Given the description of an element on the screen output the (x, y) to click on. 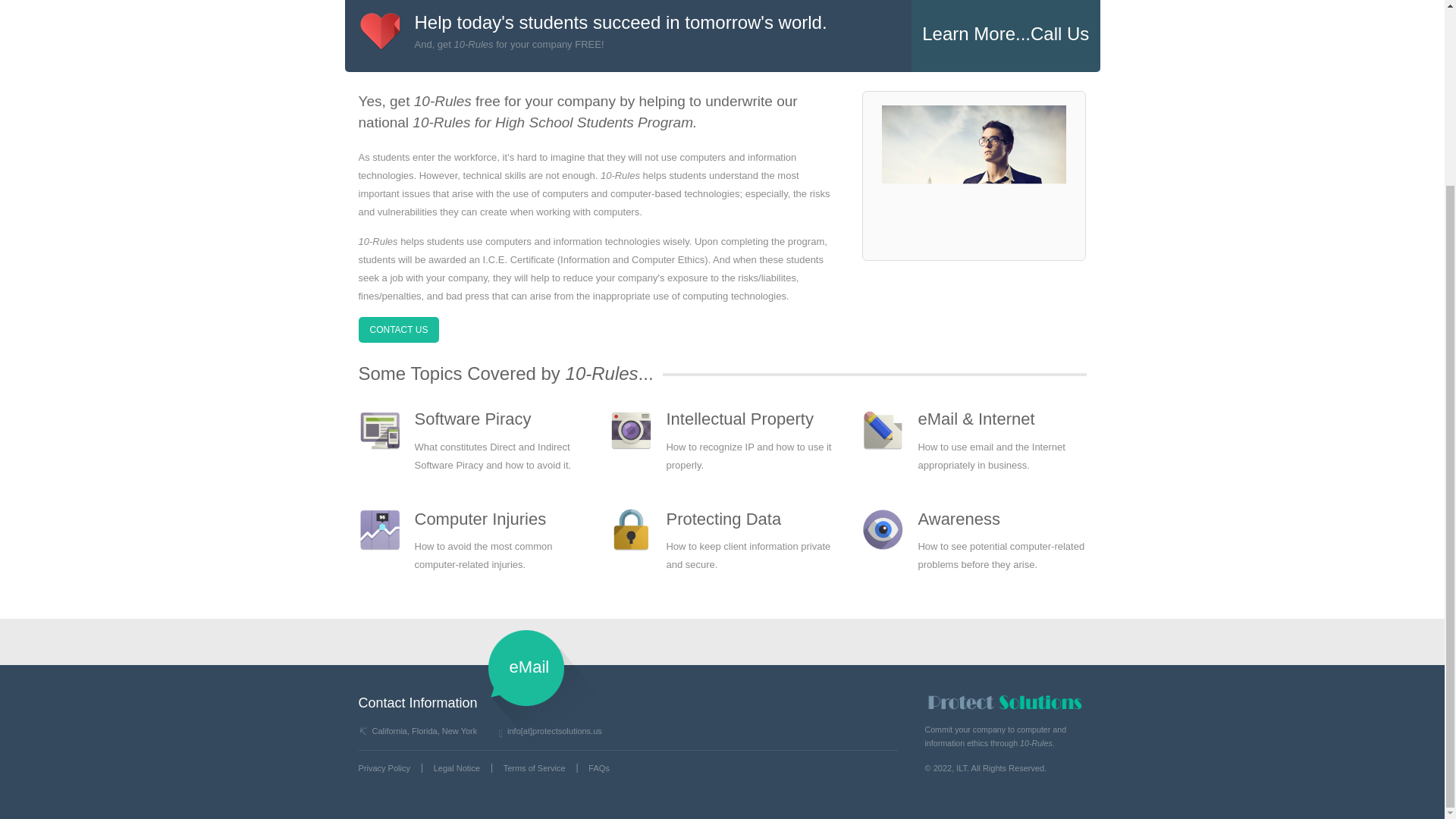
Privacy Policy (383, 768)
Terms of Service (534, 768)
 eMail (527, 666)
Legal Notice (456, 768)
FAQs (599, 768)
CONTACT US (398, 329)
